Given the description of an element on the screen output the (x, y) to click on. 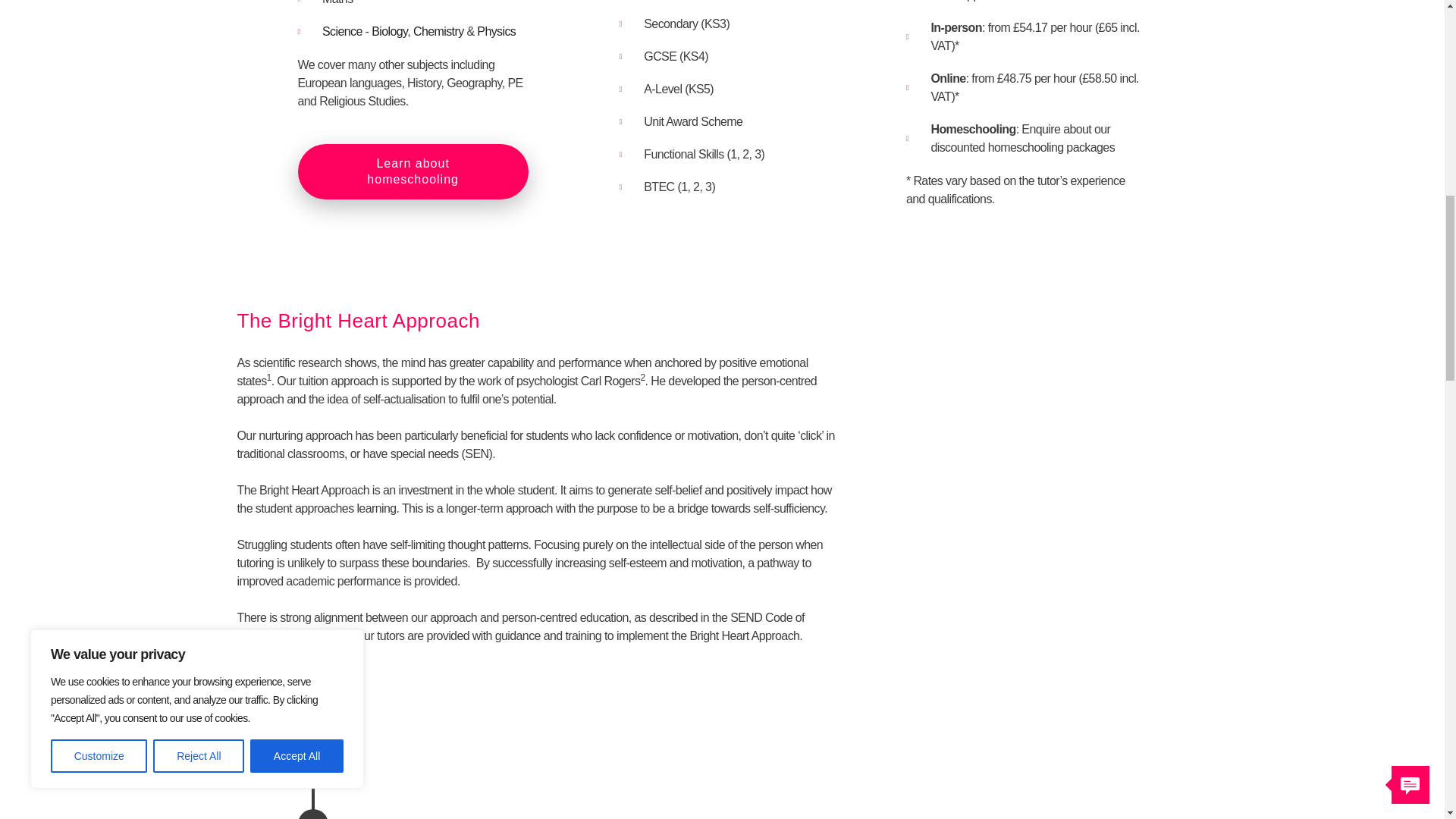
Science (341, 31)
Maths (412, 4)
